Given the description of an element on the screen output the (x, y) to click on. 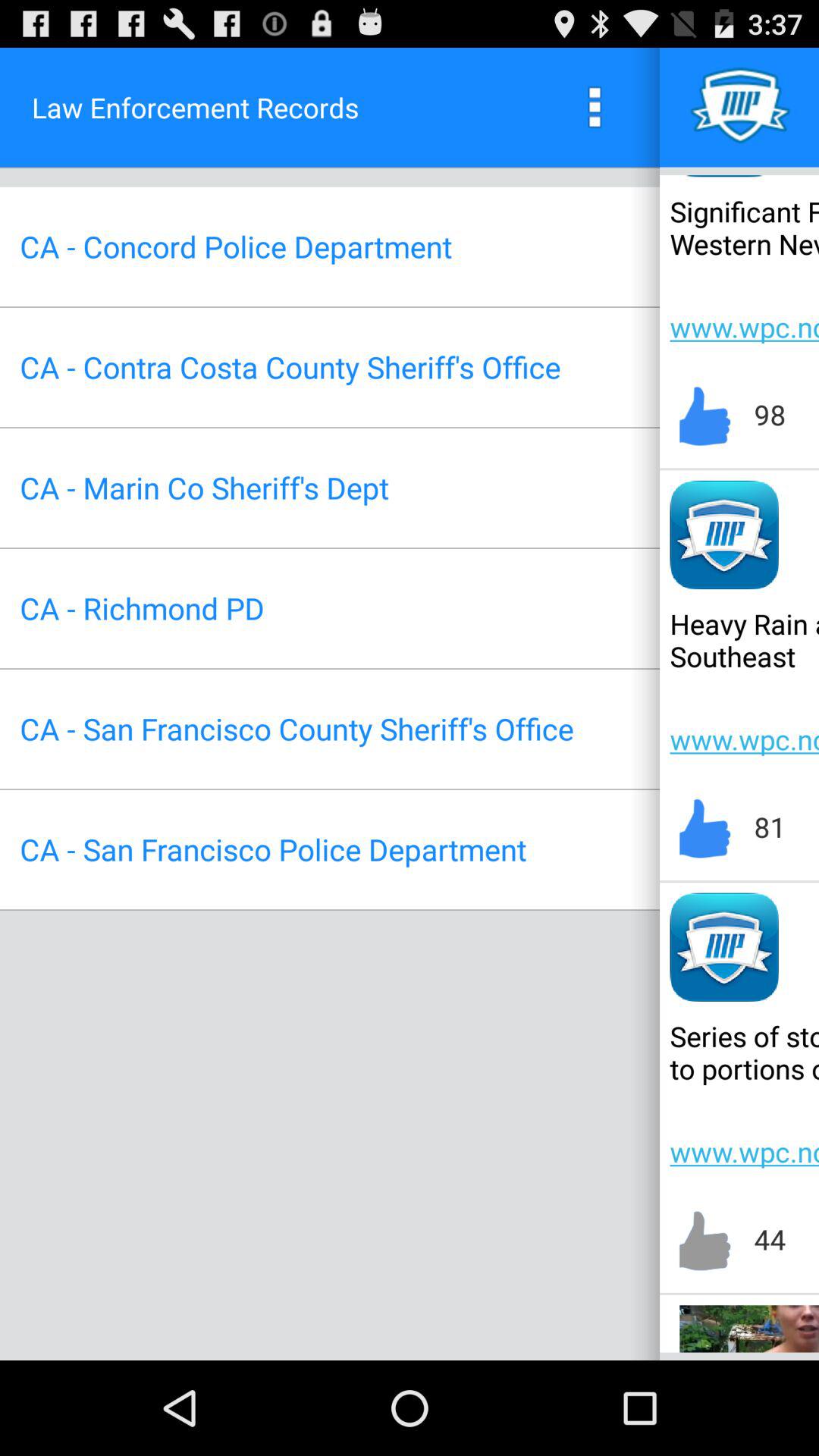
choose the app to the left of www wpc ncep icon (289, 366)
